Given the description of an element on the screen output the (x, y) to click on. 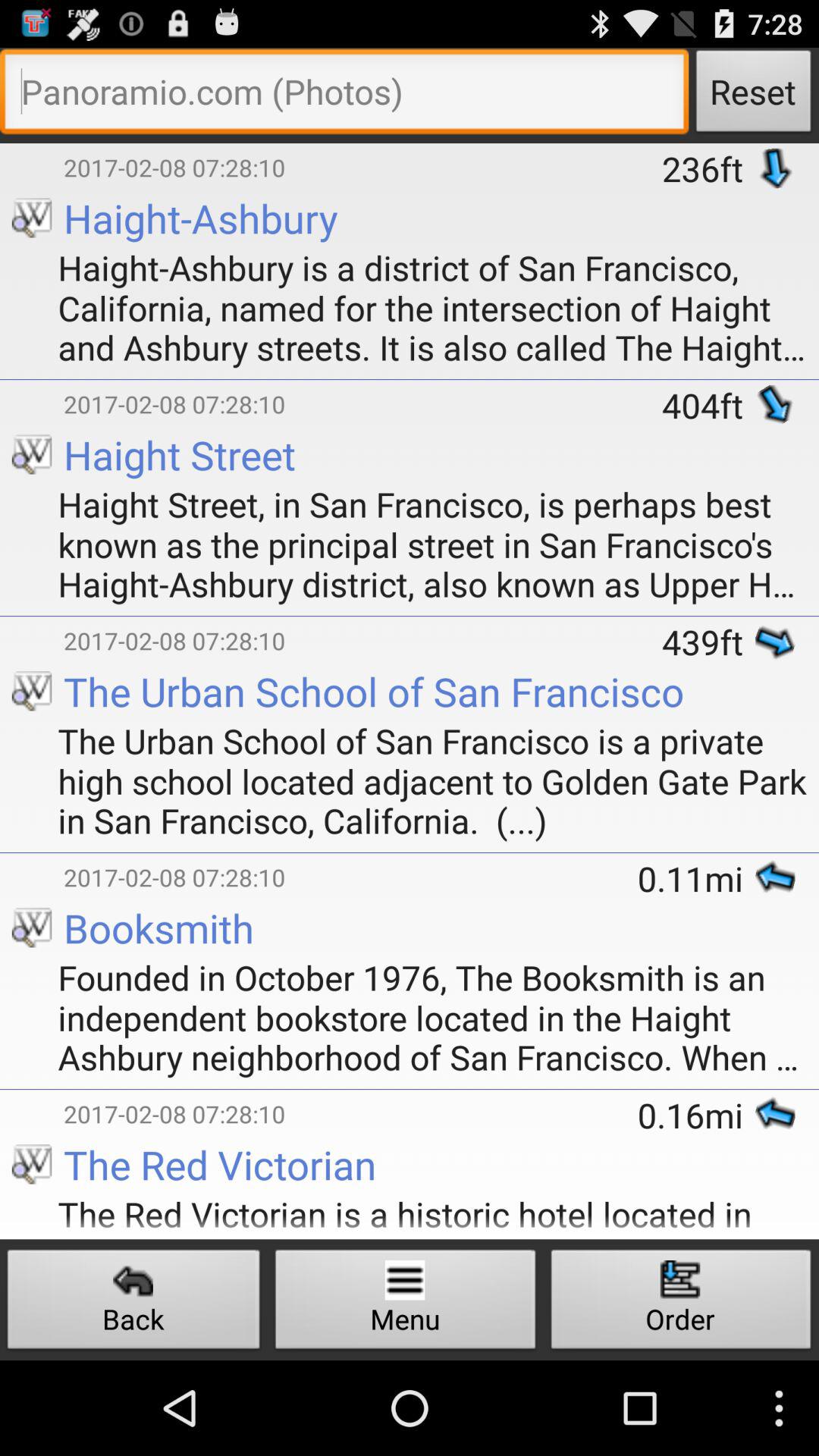
scroll to back item (133, 1303)
